Given the description of an element on the screen output the (x, y) to click on. 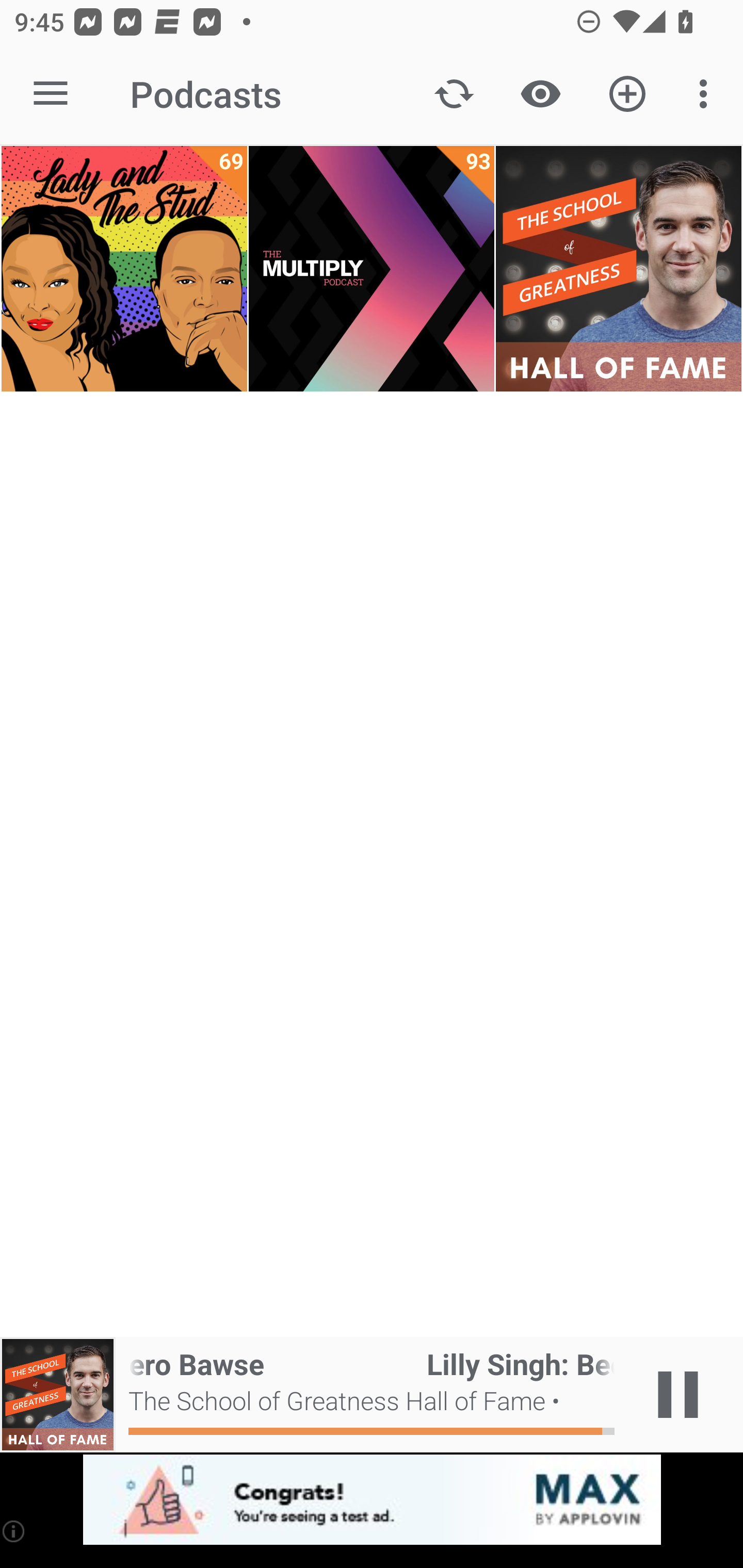
Open navigation sidebar (50, 93)
Update (453, 93)
Show / Hide played content (540, 93)
Add new Podcast (626, 93)
More options (706, 93)
Lady and The Stud 69 (124, 268)
The Multiply Podcast 93 (371, 268)
The School of Greatness Hall of Fame (618, 268)
Play / Pause (677, 1394)
app-monetization (371, 1500)
(i) (14, 1531)
